Given the description of an element on the screen output the (x, y) to click on. 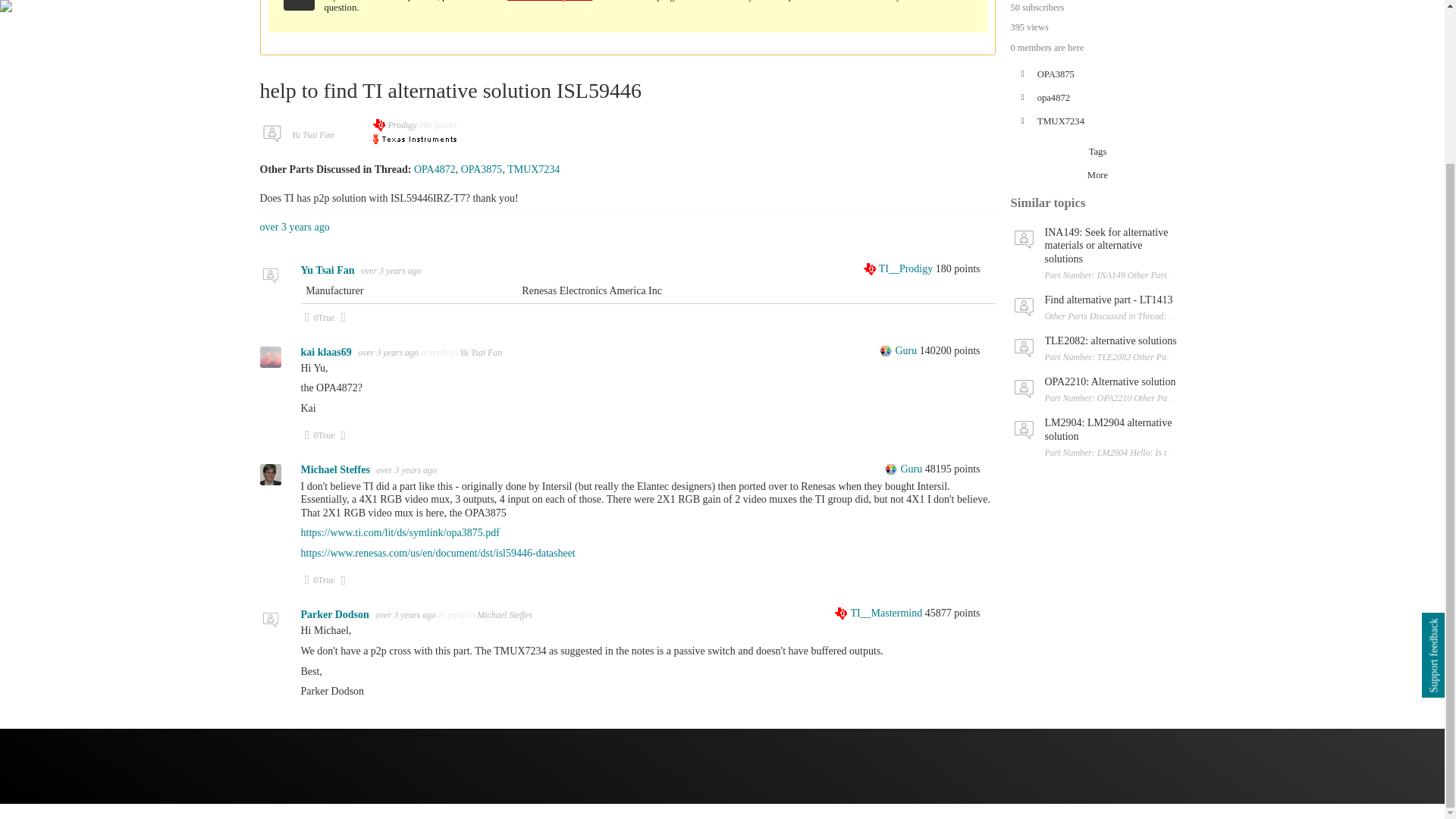
Click here for explanation of levels (899, 268)
Click here for explanation of levels (898, 350)
Link to Product Folder (481, 169)
Click here for explanation of levels (646, 291)
Link to Product Folder (879, 613)
Link to Product Folder (532, 169)
Click here for explanation of levels (434, 169)
Click here for explanation of levels (904, 469)
